Given the description of an element on the screen output the (x, y) to click on. 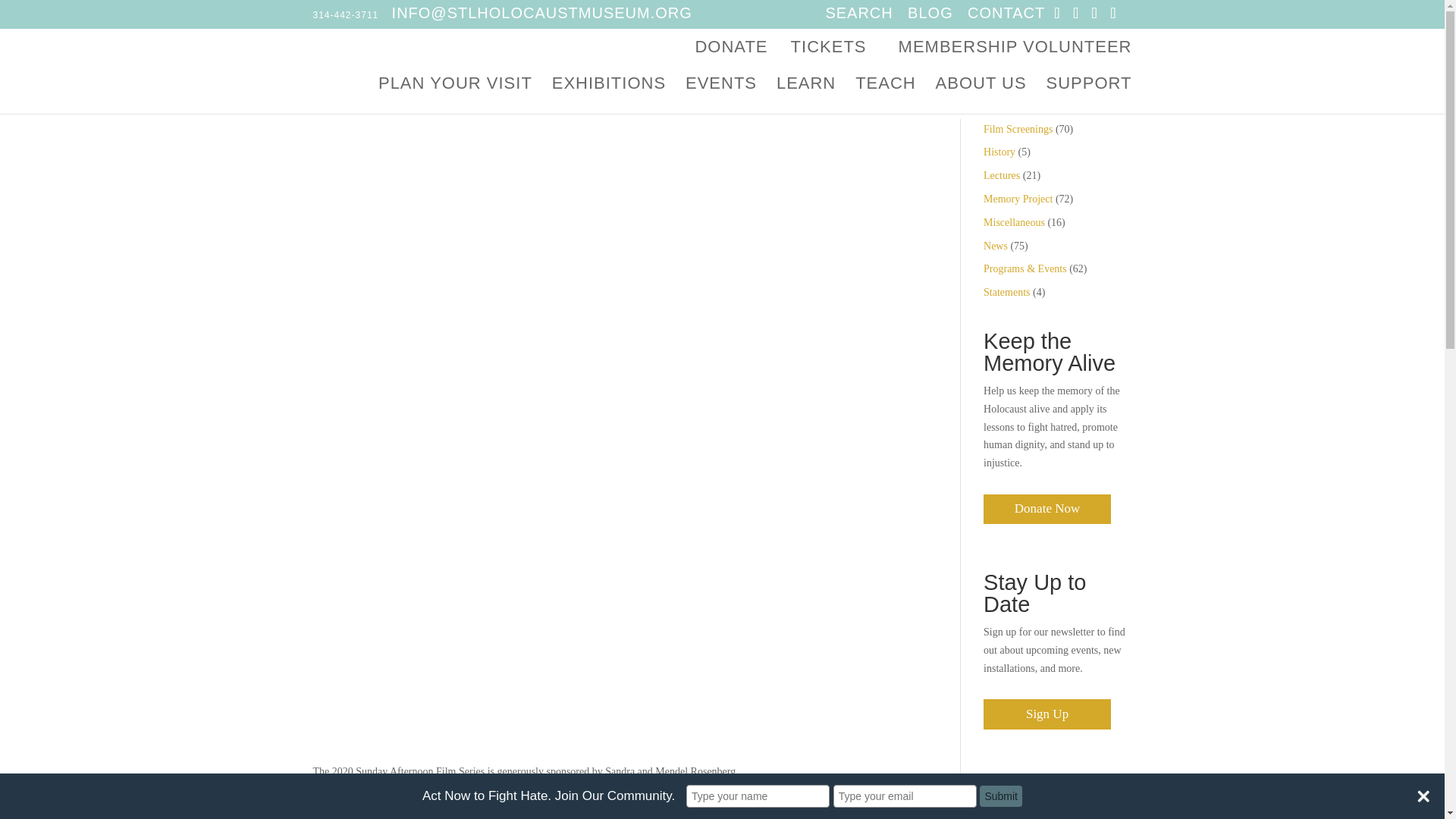
BLOG (930, 13)
EVENTS (721, 95)
LEARN (805, 95)
PLAN YOUR VISIT (455, 95)
SEARCH (858, 13)
EXHIBITIONS (608, 95)
CONTACT (1006, 13)
